Given the description of an element on the screen output the (x, y) to click on. 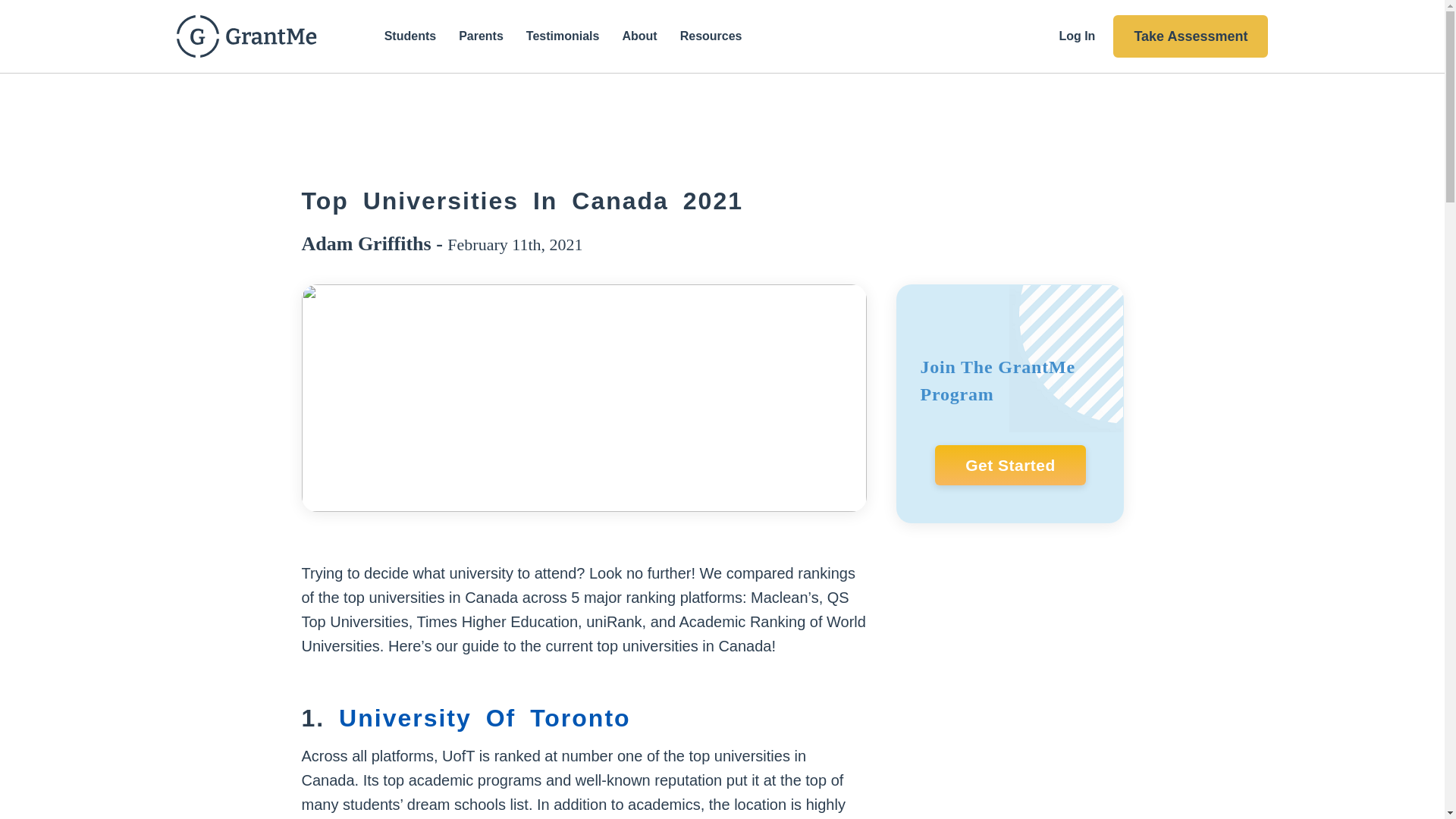
Resources (716, 36)
Parents (480, 36)
About (639, 36)
Take Assessment (1190, 36)
Log In (1076, 35)
Testimonials (563, 36)
Get Started (1010, 465)
Students (409, 36)
University Of Toronto  (492, 718)
